Given the description of an element on the screen output the (x, y) to click on. 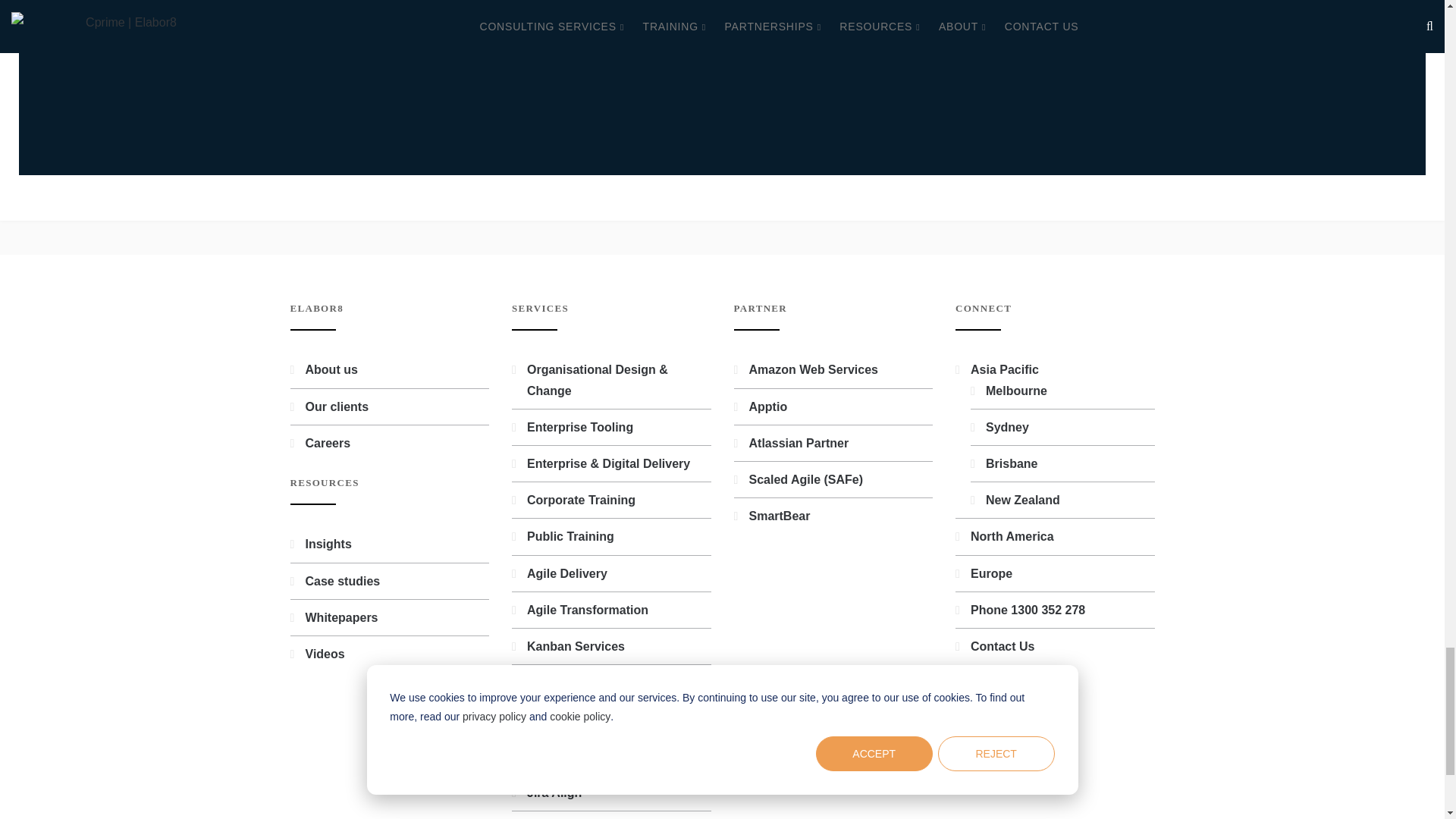
Form 0 (721, 61)
Careers (327, 442)
Our clients (336, 406)
Insights (327, 543)
Whitepapers (340, 617)
About us (330, 369)
Videos (323, 653)
Case studies (342, 581)
